Given the description of an element on the screen output the (x, y) to click on. 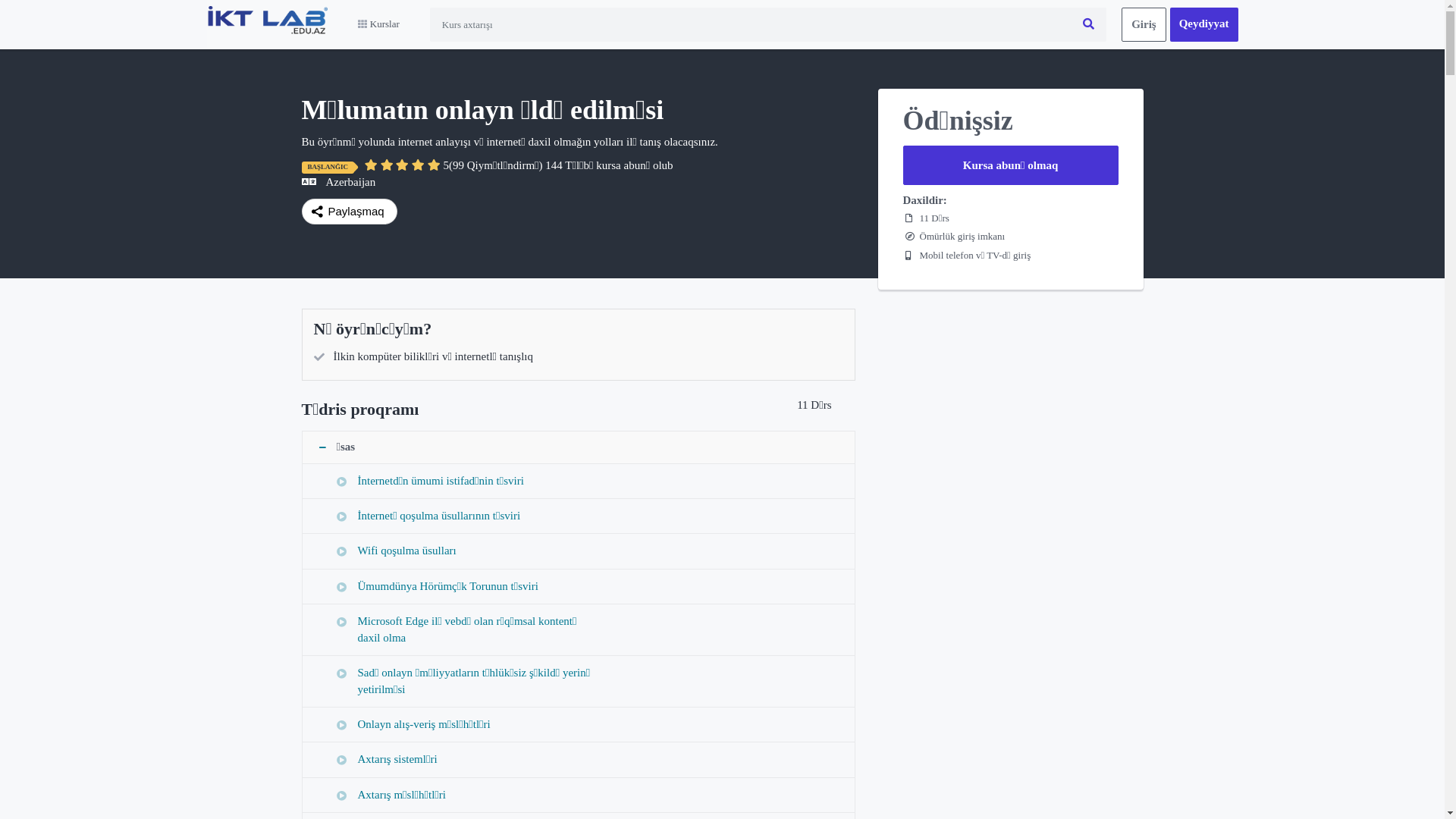
Kurslar Element type: text (378, 24)
Qeydiyyat Element type: text (1204, 23)
